Given the description of an element on the screen output the (x, y) to click on. 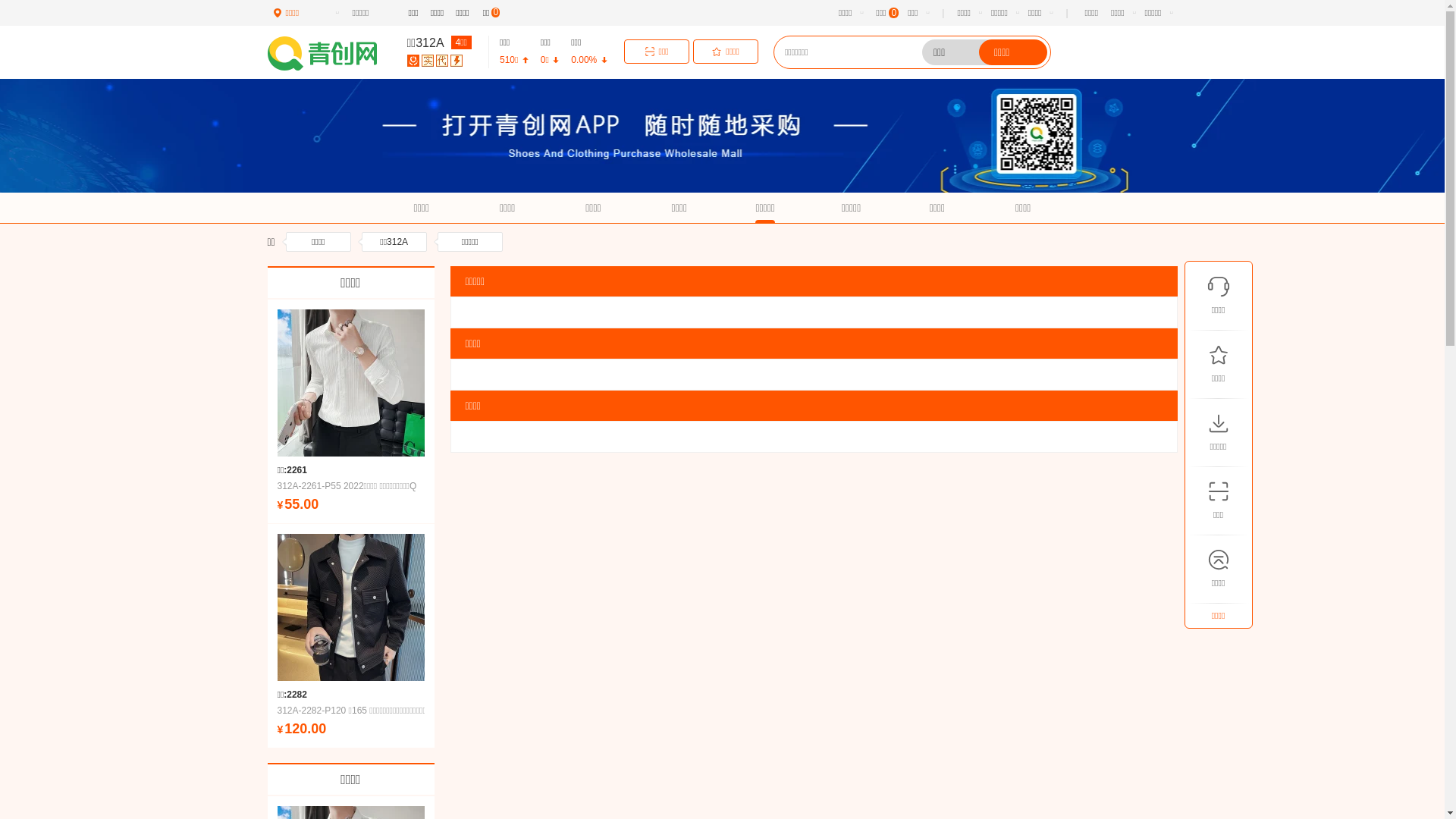
17qcc Element type: text (331, 53)
